Given the description of an element on the screen output the (x, y) to click on. 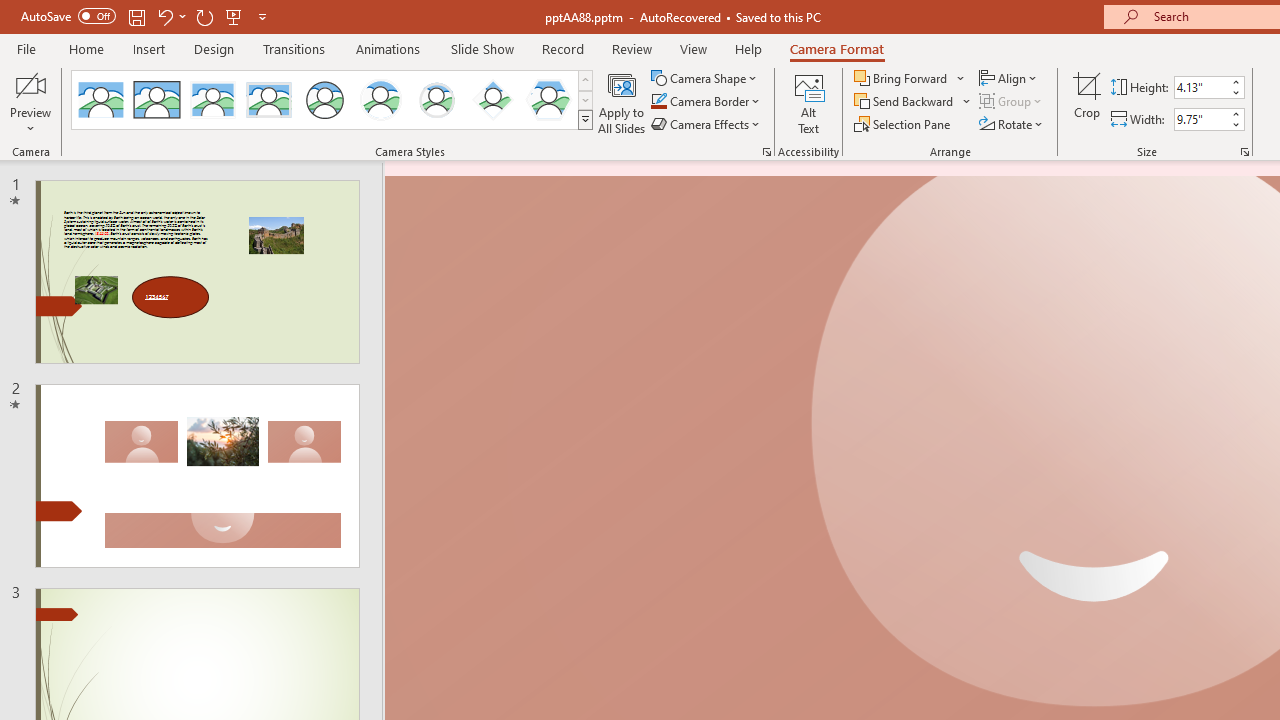
Camera Shape (705, 78)
